Given the description of an element on the screen output the (x, y) to click on. 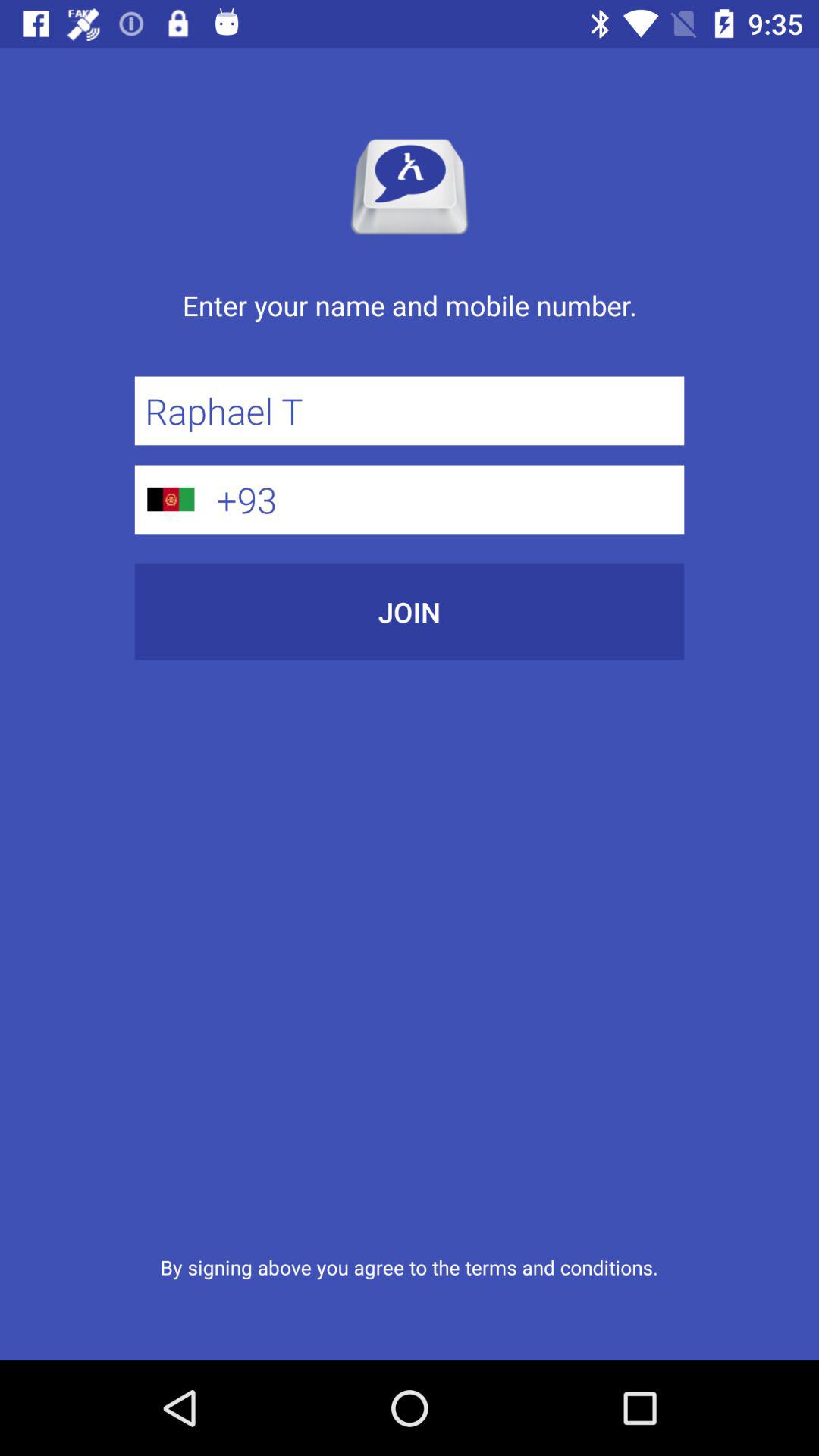
click the enter your name item (409, 321)
